Given the description of an element on the screen output the (x, y) to click on. 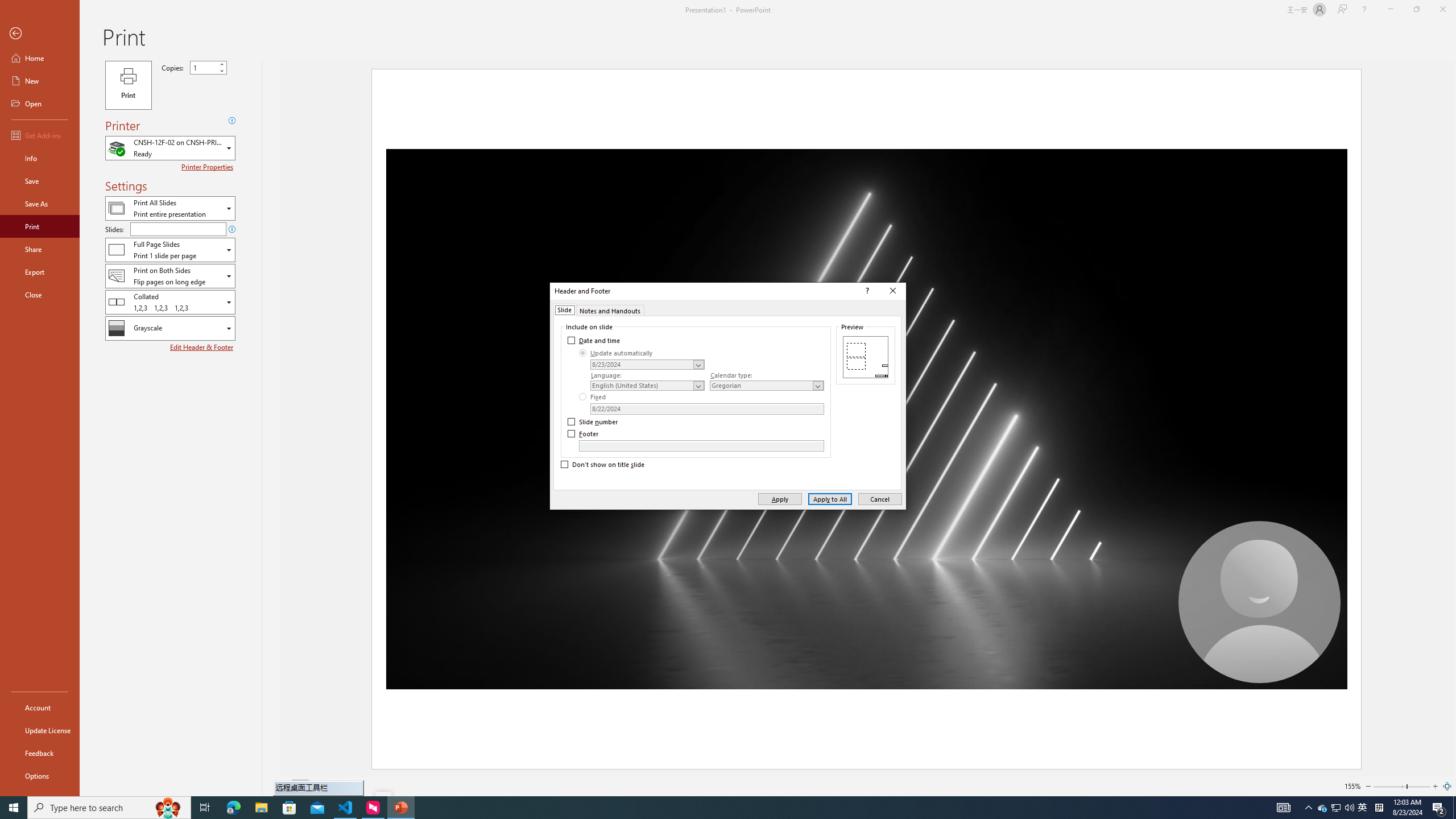
Page left (1389, 786)
Fixed (593, 396)
Back (40, 33)
Which Printer (169, 147)
Account (40, 707)
Edit Header & Footer (202, 347)
Previous Page (1322, 807)
Format Date and Time (285, 786)
155% (646, 364)
New (1352, 785)
